Given the description of an element on the screen output the (x, y) to click on. 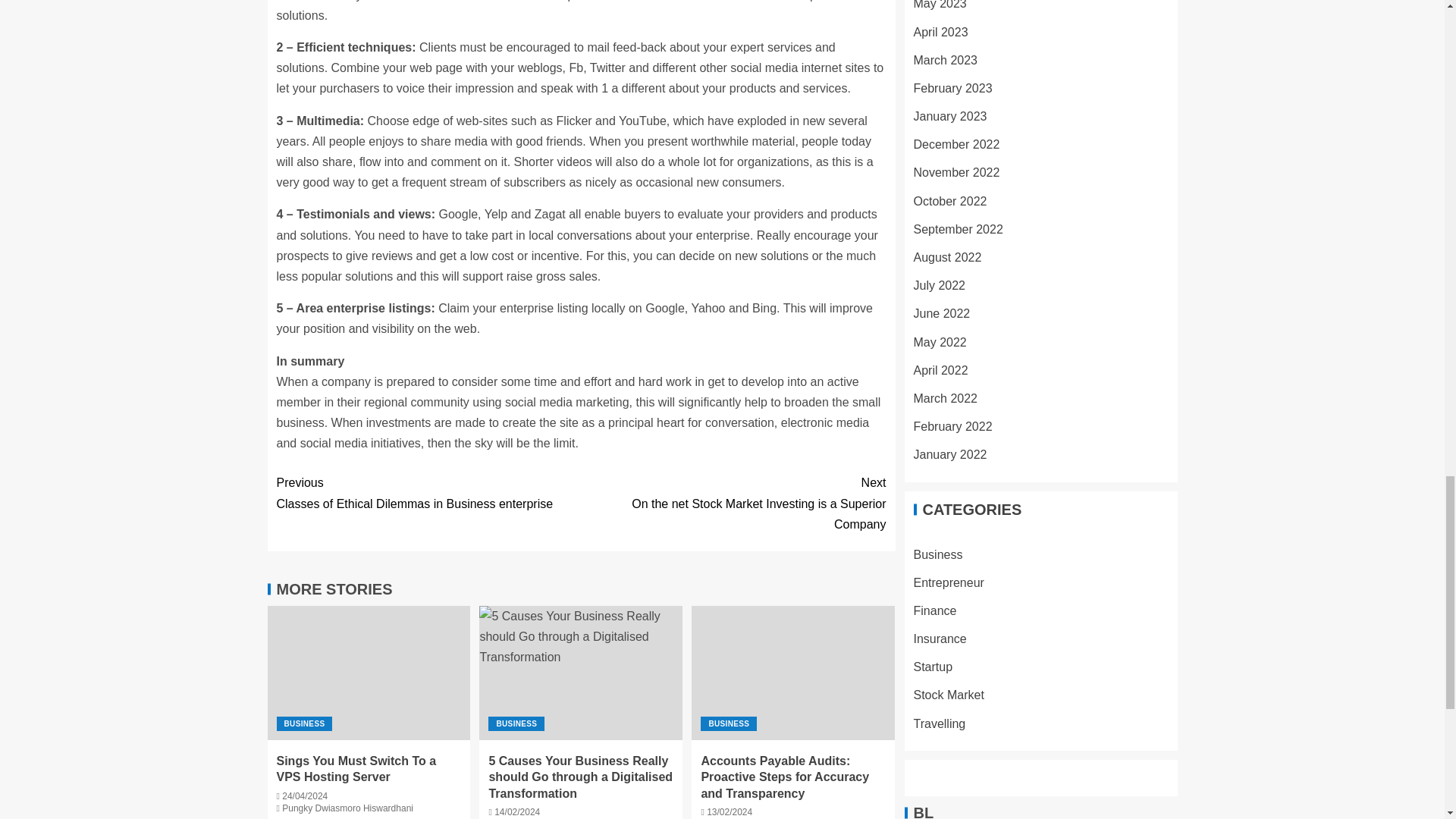
Pungky Dwiasmoro Hiswardhani (732, 503)
BUSINESS (347, 808)
BUSINESS (428, 492)
Sings You Must Switch To a VPS Hosting Server (515, 723)
BUSINESS (303, 723)
